Given the description of an element on the screen output the (x, y) to click on. 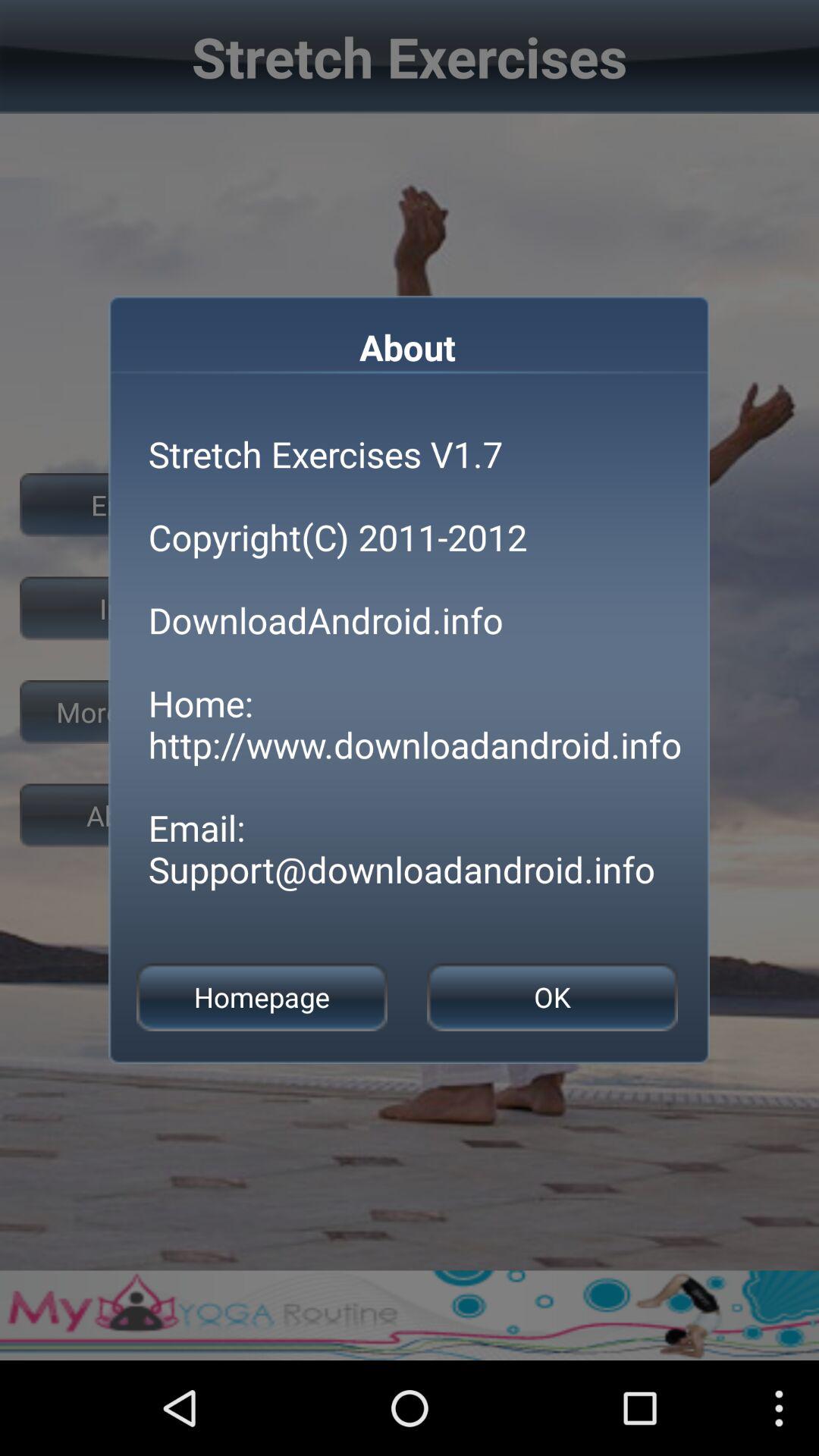
choose the homepage icon (261, 997)
